Given the description of an element on the screen output the (x, y) to click on. 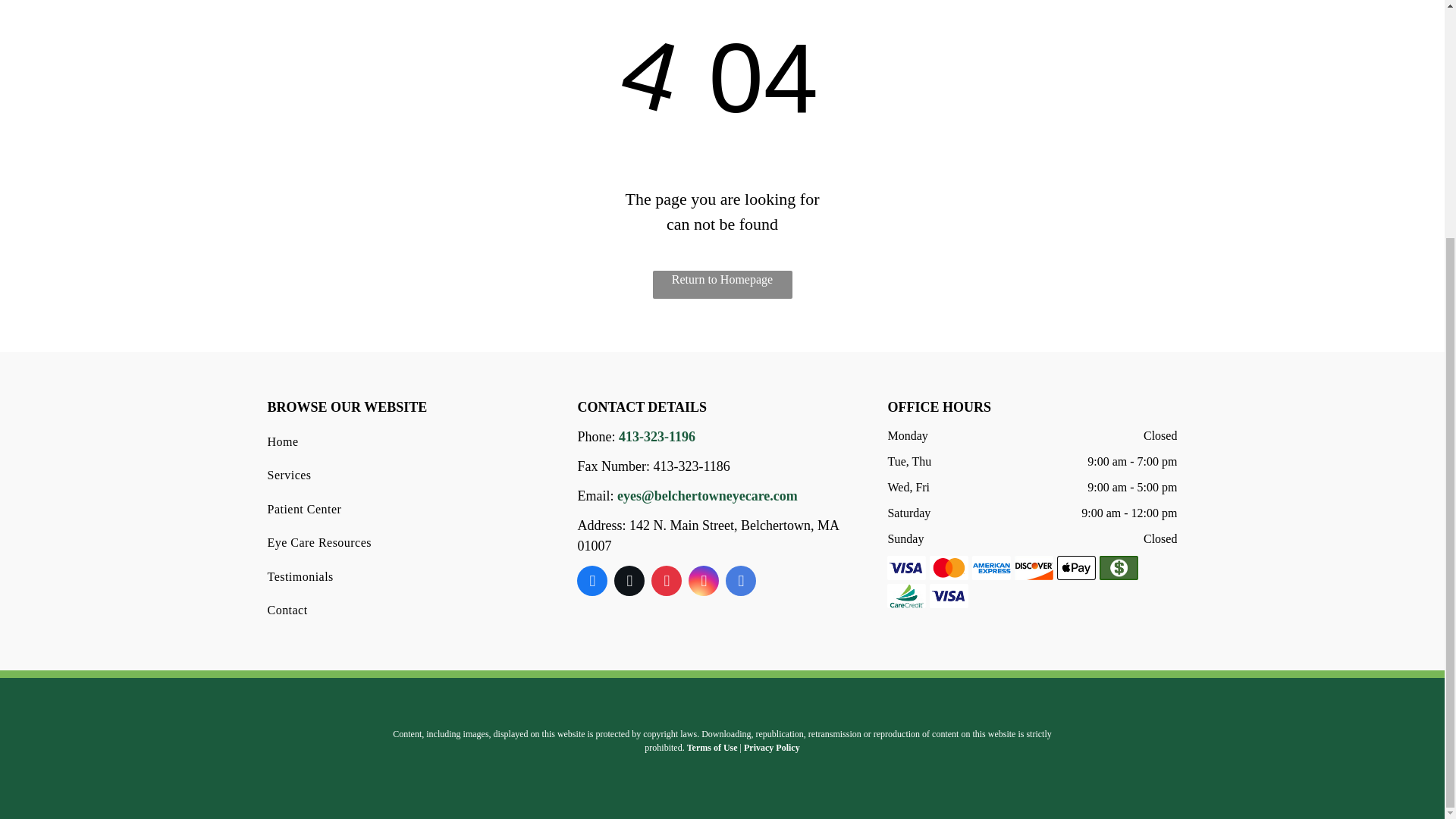
Return to Homepage (722, 284)
413-323-1196 (656, 436)
Privacy Policy (771, 747)
Testimonials (405, 575)
Terms of Use (712, 747)
Eye Care Resources (405, 542)
Contact (405, 610)
Patient Center (405, 509)
Home (405, 441)
Services (405, 475)
